Given the description of an element on the screen output the (x, y) to click on. 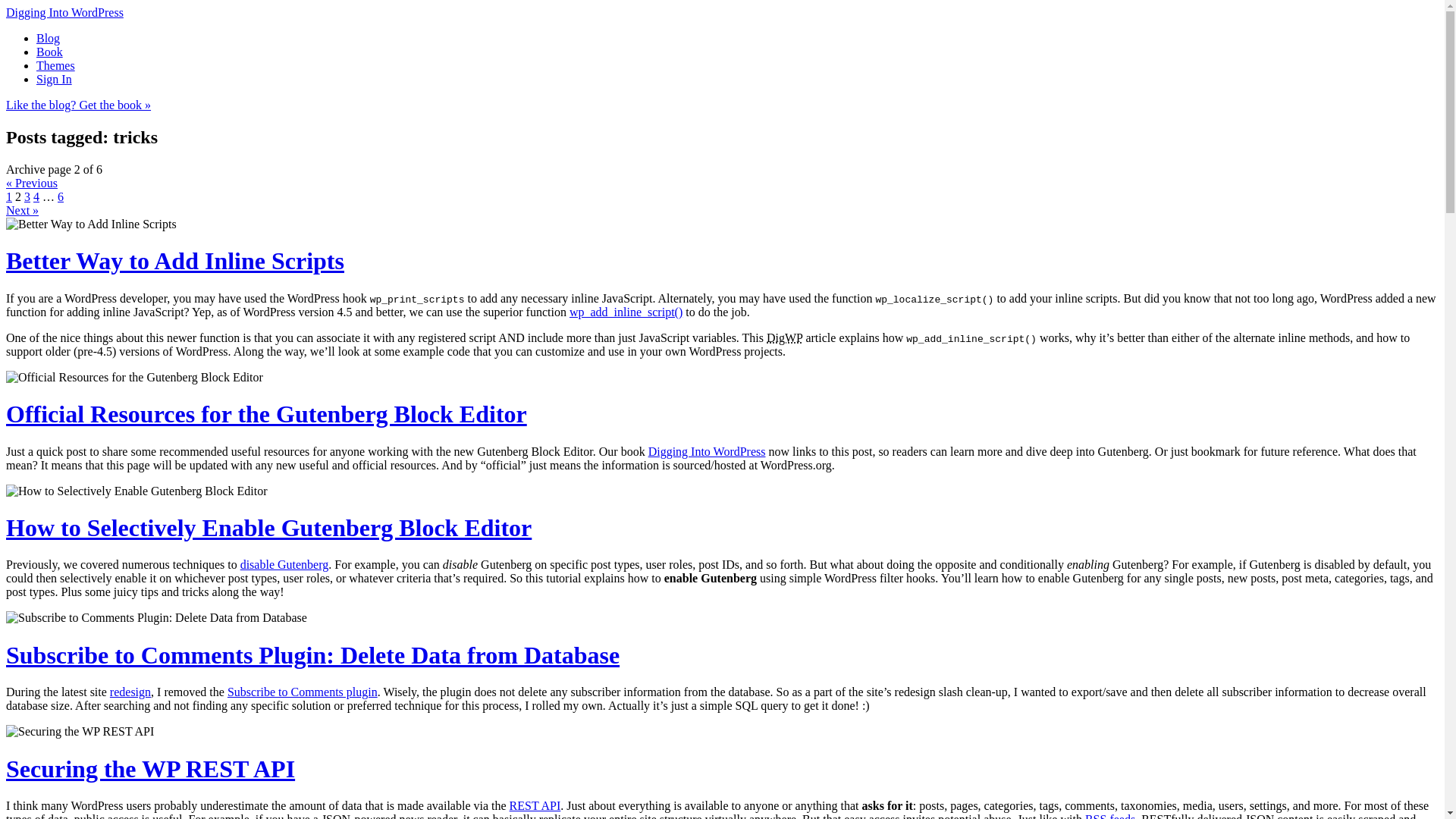
Subscribe to Comments Plugin: Delete Data from Database (312, 655)
Securing the WP REST API (150, 768)
Themes (55, 65)
Official Resources for the Gutenberg Block Editor (266, 413)
Take your WordPress skills to the next level. (64, 11)
DigWP Site Redesign (130, 691)
Digging Into WordPress (706, 451)
Blog (47, 38)
RSS feeds (1109, 816)
Subscribe to Comments plugin (302, 691)
